Given the description of an element on the screen output the (x, y) to click on. 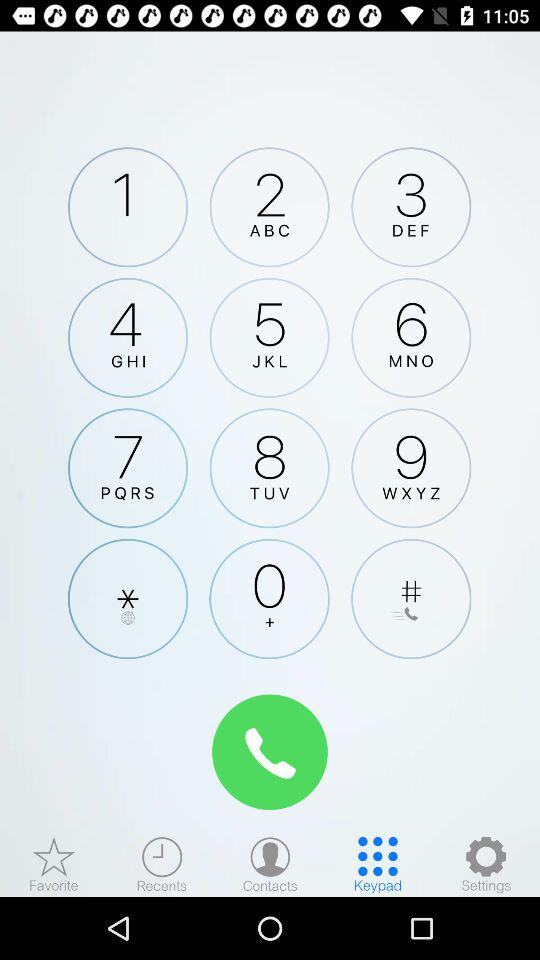
call number (270, 751)
